Given the description of an element on the screen output the (x, y) to click on. 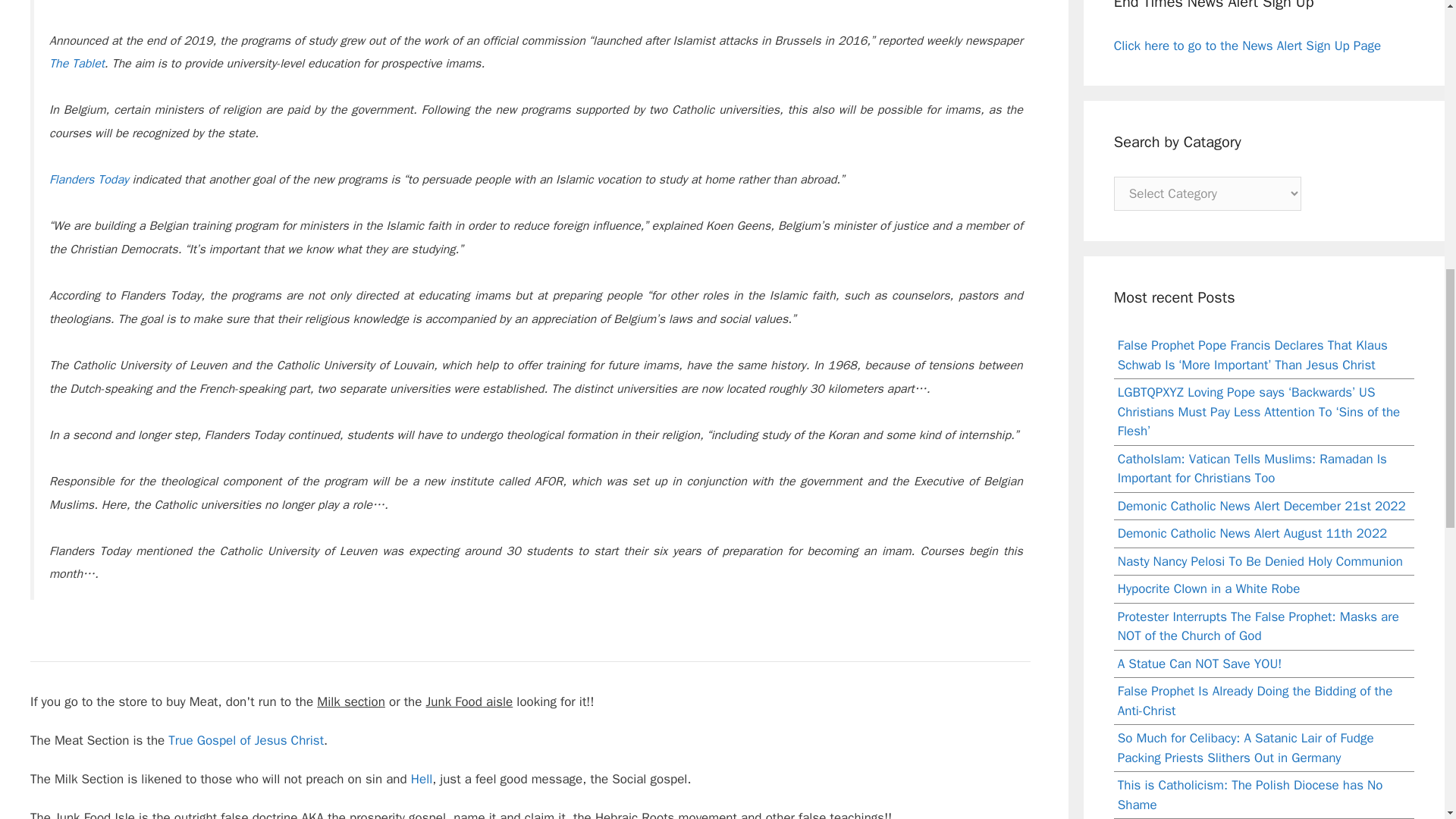
Hell (421, 779)
Flanders Today (89, 179)
True Gospel of Jesus Christ (245, 740)
Salvation (245, 740)
Hell (421, 779)
The Tablet (76, 63)
